Given the description of an element on the screen output the (x, y) to click on. 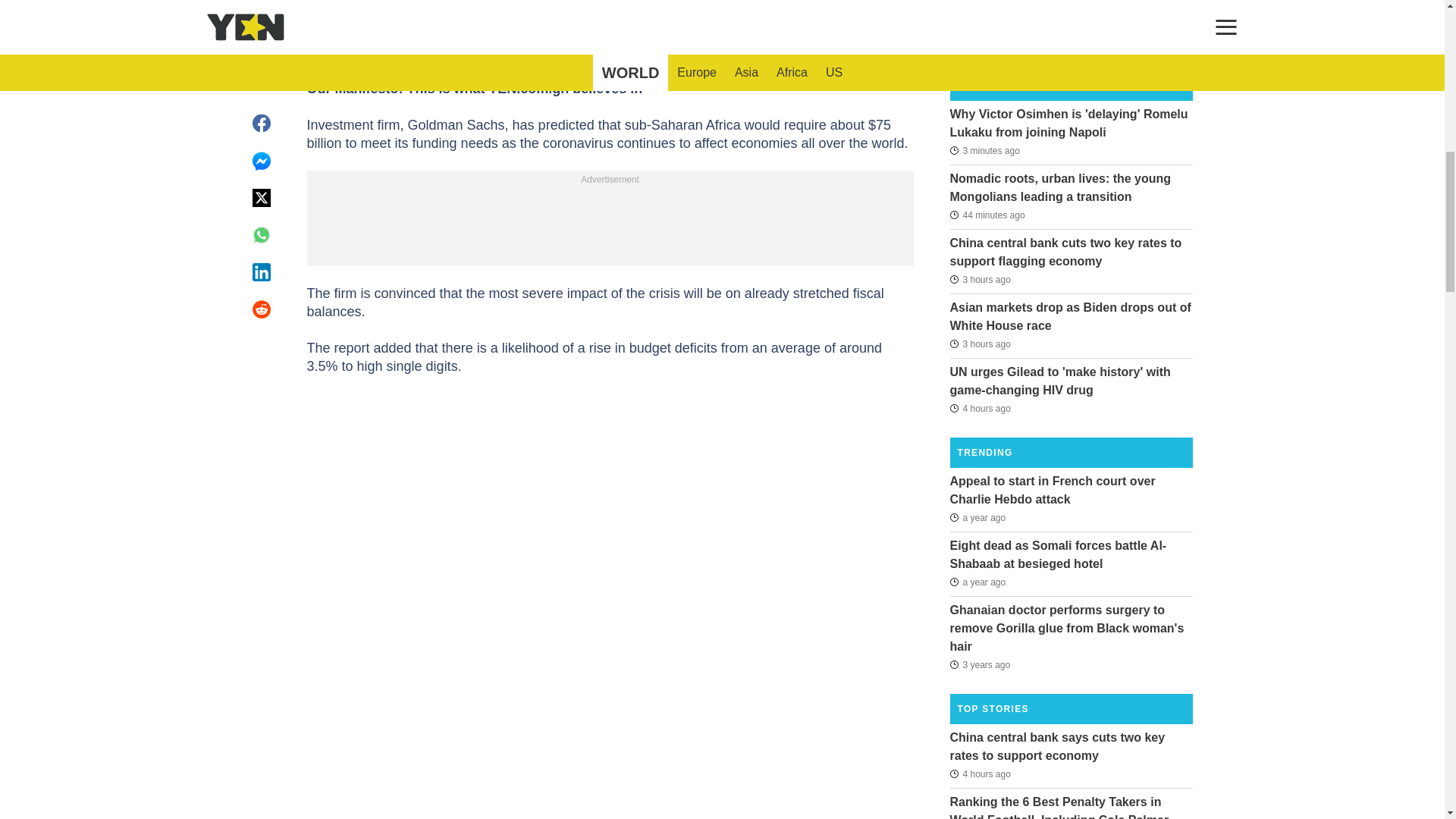
2024-07-22T02:09:03Z (979, 407)
2024-07-22T06:26:27Z (984, 149)
2024-07-22T02:41:03Z (979, 343)
2022-09-11T05:01:05Z (977, 516)
2022-08-20T04:23:05Z (977, 582)
2024-07-22T03:09:03Z (979, 279)
2021-02-12T08:40:43Z (979, 664)
2024-07-22T05:45:06Z (987, 215)
2024-07-22T01:49:03Z (979, 773)
